Given the description of an element on the screen output the (x, y) to click on. 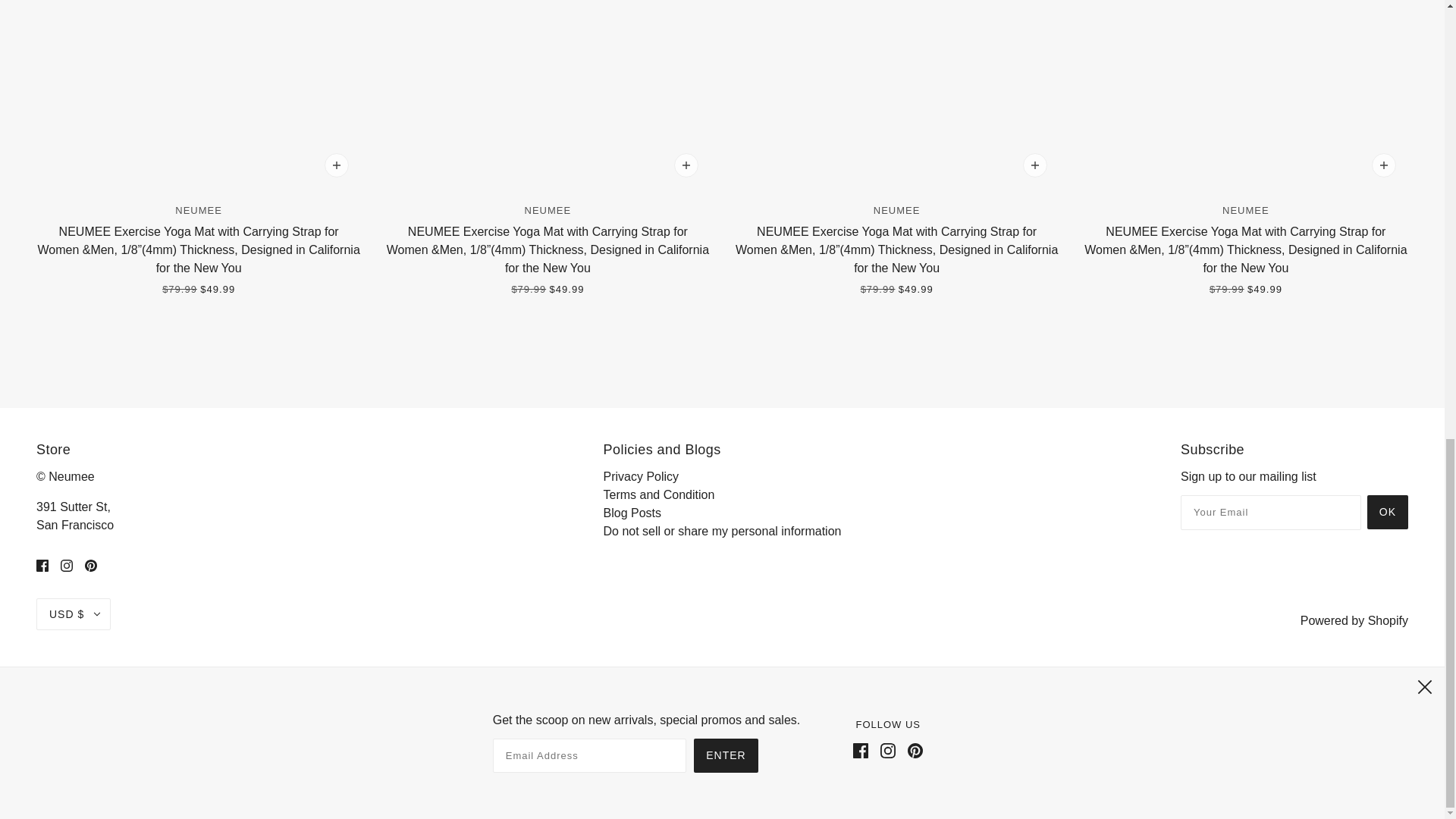
Privacy Policy (641, 476)
Do not sell or share my personal information (722, 530)
Terms and Condition (659, 494)
Blog Posts (632, 512)
